Given the description of an element on the screen output the (x, y) to click on. 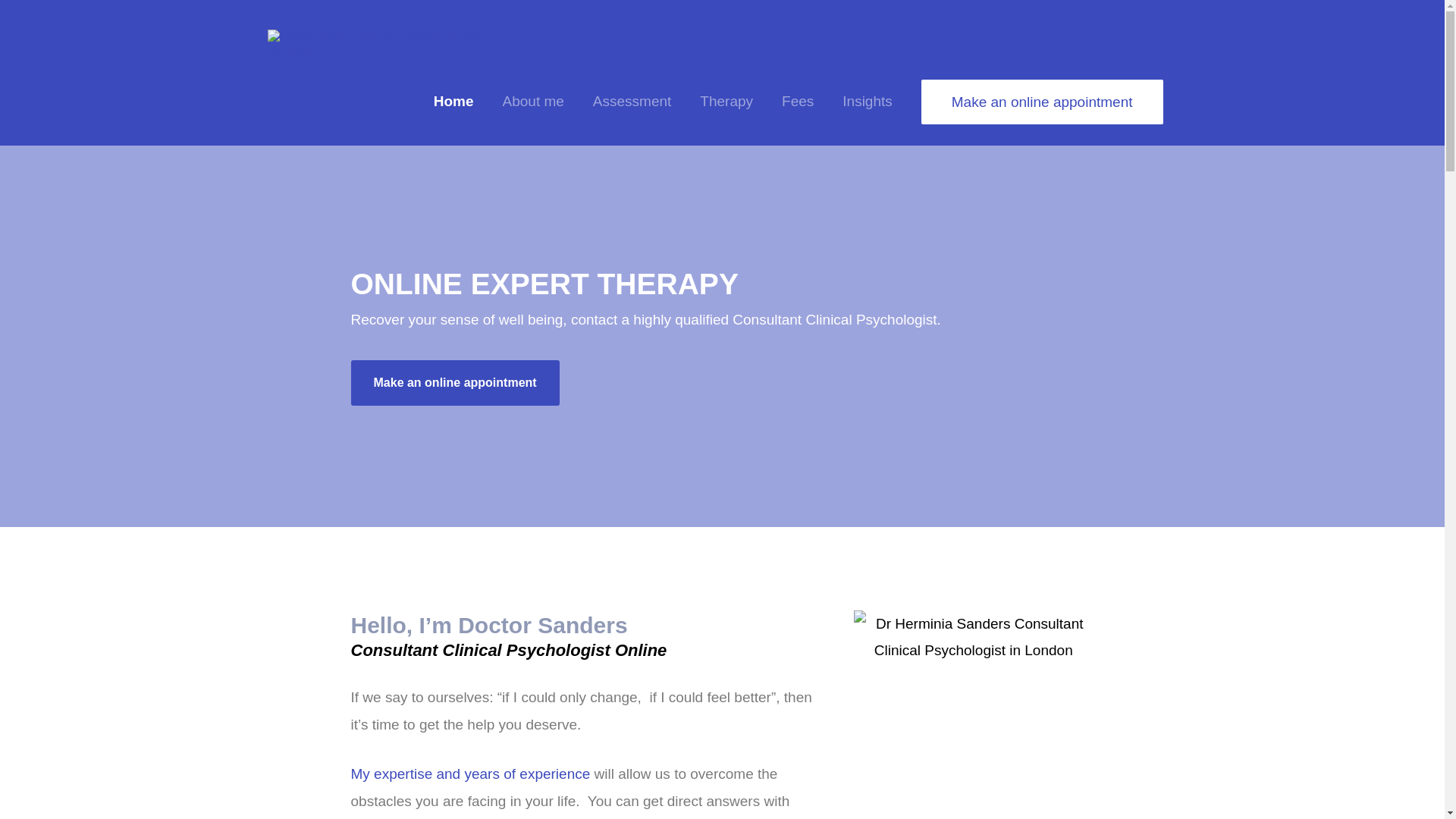
My expertise and years of experience (469, 773)
Fees (797, 101)
Dr Herminia Sanders Consultant Clinical Psychologist Online (973, 637)
Therapy (726, 101)
Insights (866, 101)
Home (453, 101)
About me (532, 101)
Assessment (631, 101)
Make an online appointment (1042, 100)
Make an online appointment (454, 382)
